Given the description of an element on the screen output the (x, y) to click on. 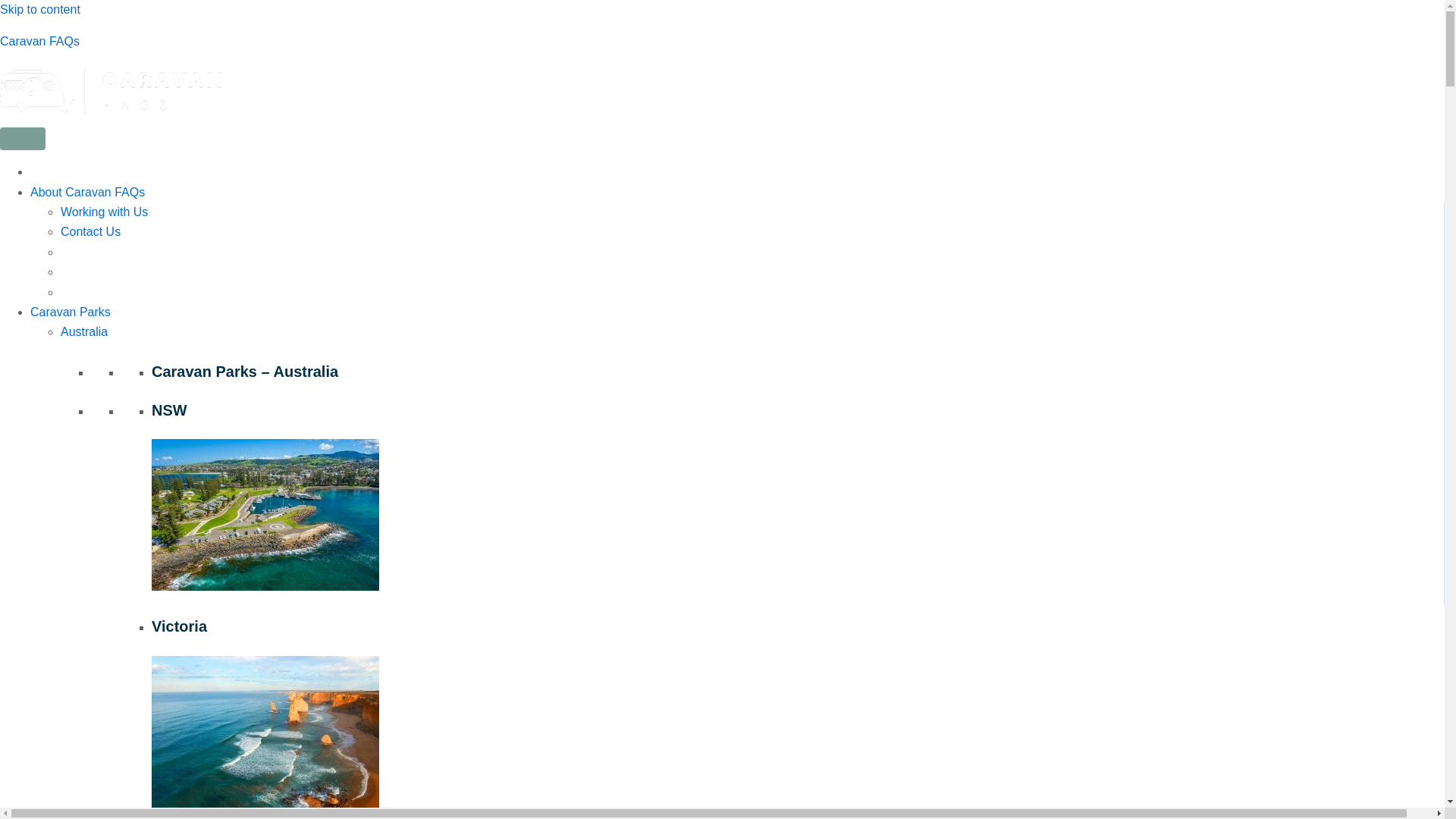
Caravan FAQs (40, 41)
New South Wales (264, 514)
Skip to content (40, 9)
Caravan FAQs (40, 41)
Contact Us (90, 231)
Working with Us (104, 211)
About Caravan FAQs (87, 192)
Australia (84, 331)
Skip to content (40, 9)
Caravan Parks (70, 311)
